Given the description of an element on the screen output the (x, y) to click on. 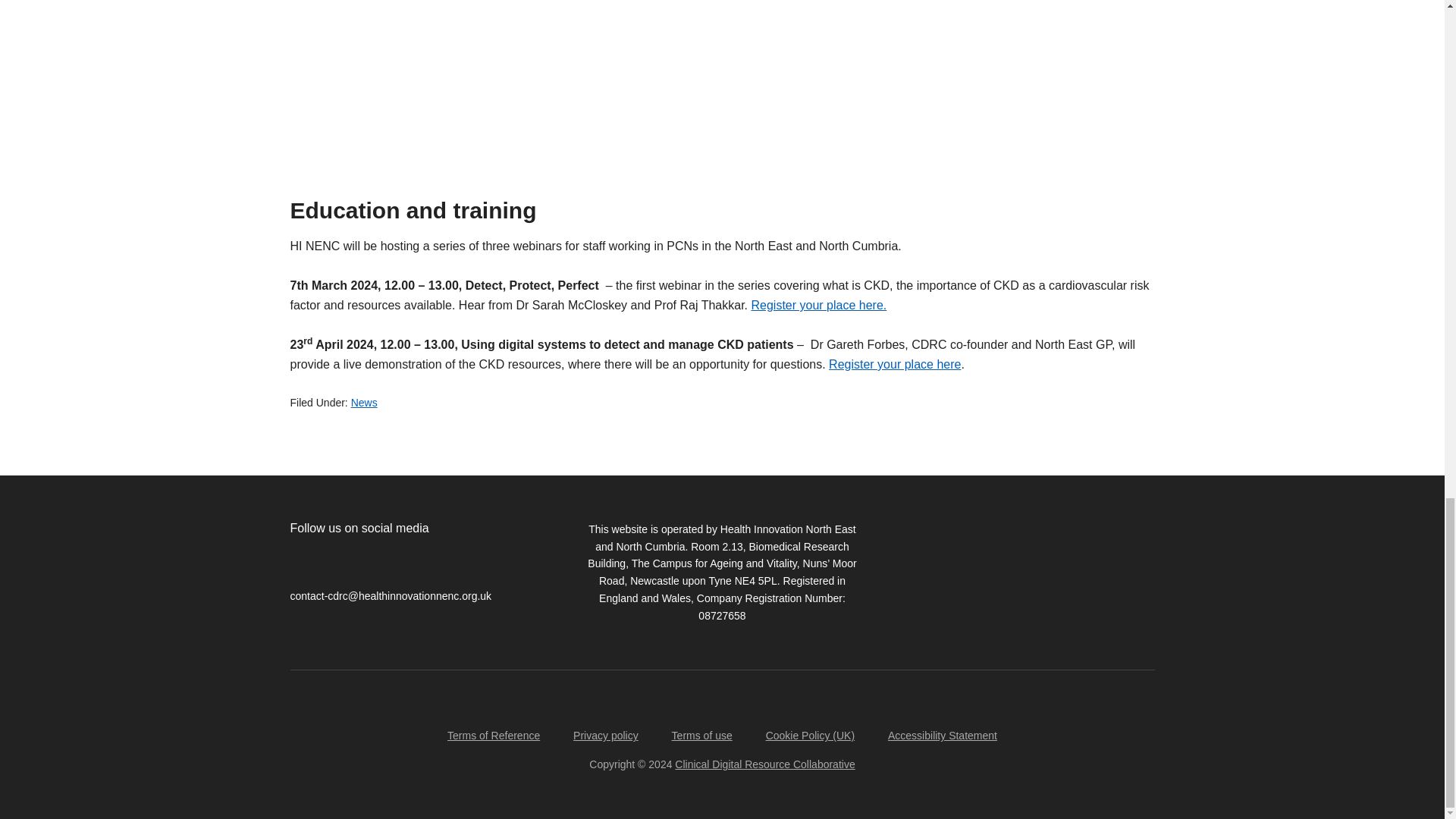
Clinical Digital Resource Collaborative (764, 764)
